Given the description of an element on the screen output the (x, y) to click on. 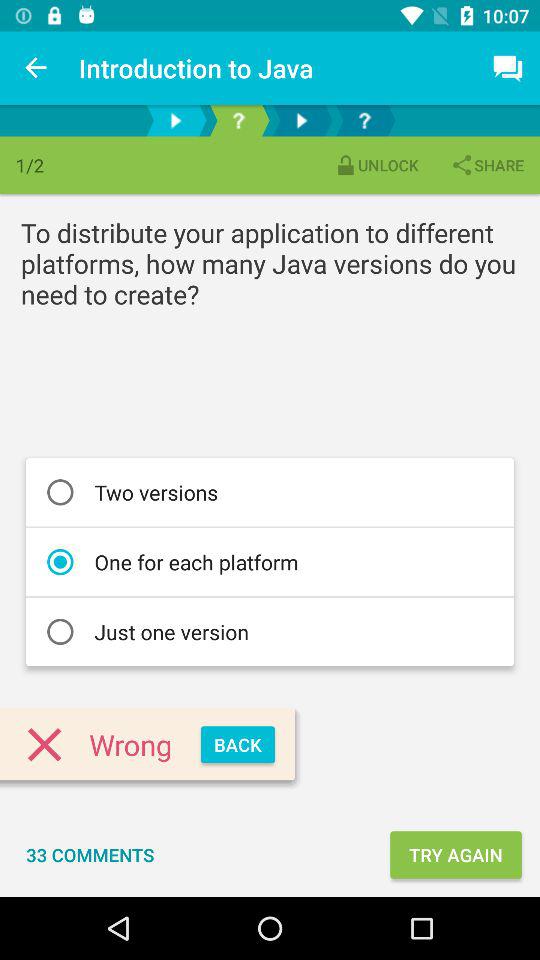
next step (301, 120)
